Given the description of an element on the screen output the (x, y) to click on. 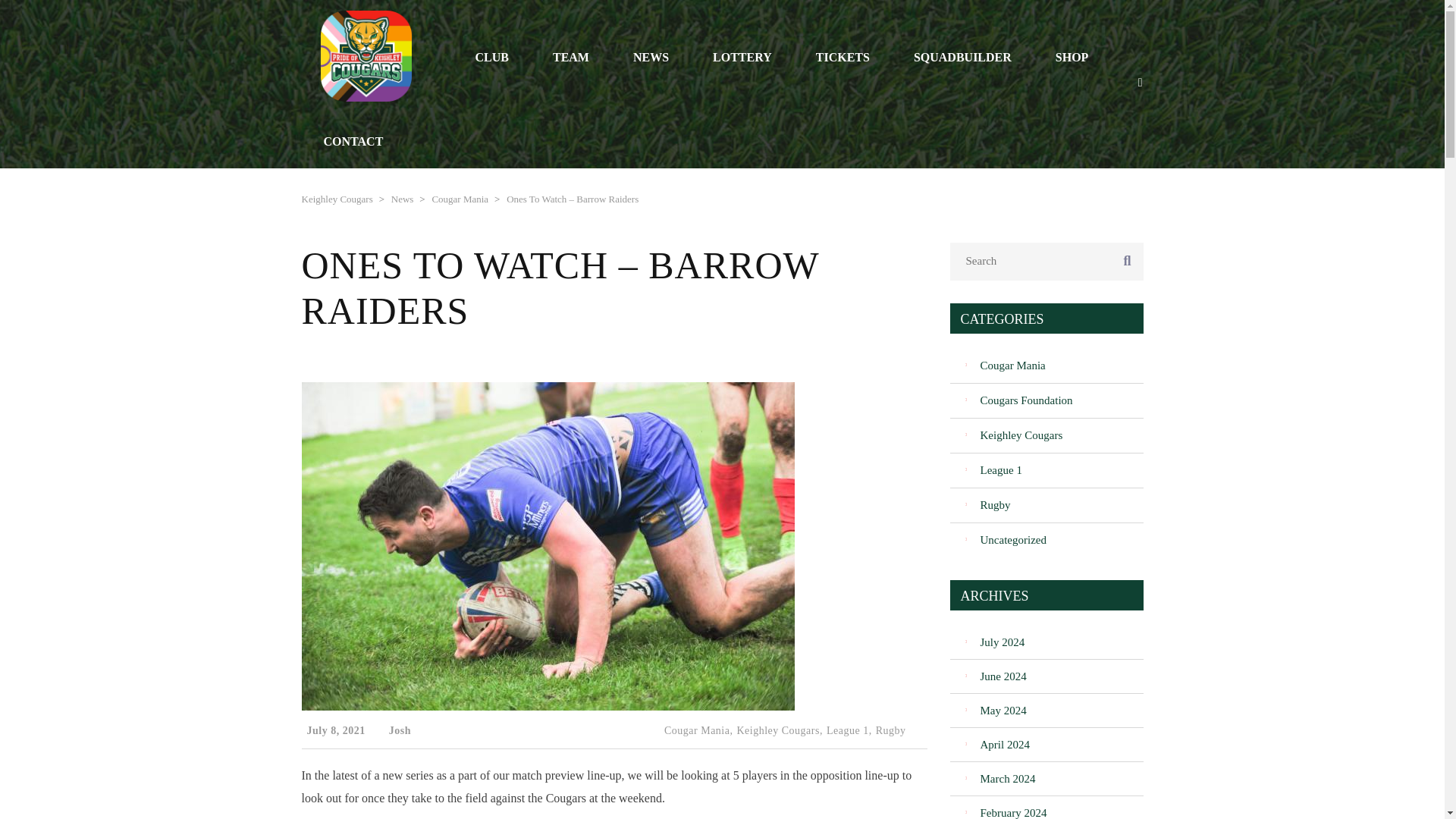
Go to News. (402, 198)
Go to Keighley Cougars. (336, 198)
LOTTERY (741, 57)
TICKETS (842, 57)
SHOP (1071, 57)
Go to the Cougar Mania Category archives. (458, 198)
Submit (1094, 578)
TEAM (571, 57)
CONTACT (353, 141)
NEWS (650, 57)
SQUADBUILDER (962, 57)
CLUB (491, 57)
